Given the description of an element on the screen output the (x, y) to click on. 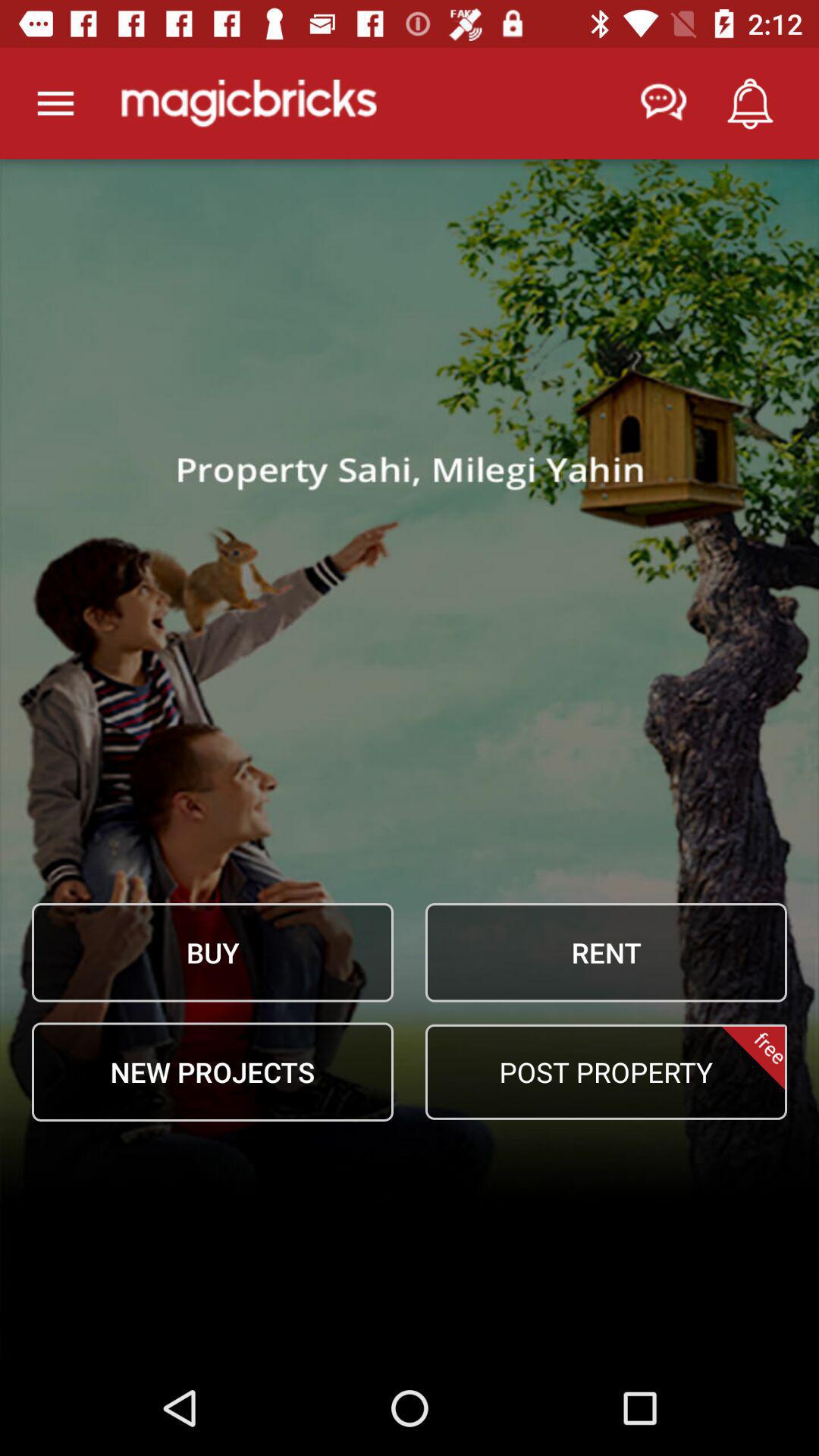
turn on item next to the rent item (212, 952)
